Given the description of an element on the screen output the (x, y) to click on. 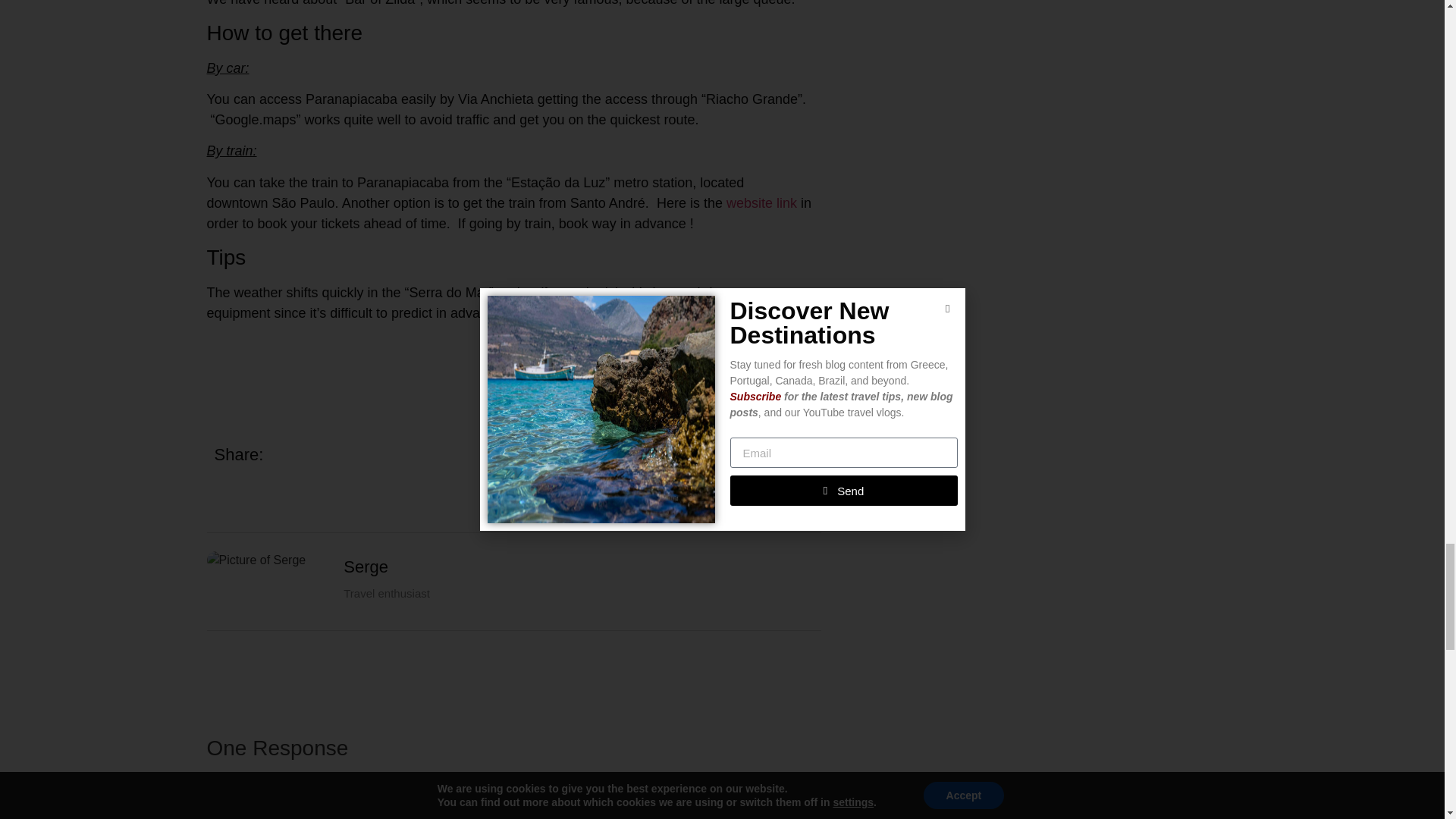
Facebook (741, 355)
